Given the description of an element on the screen output the (x, y) to click on. 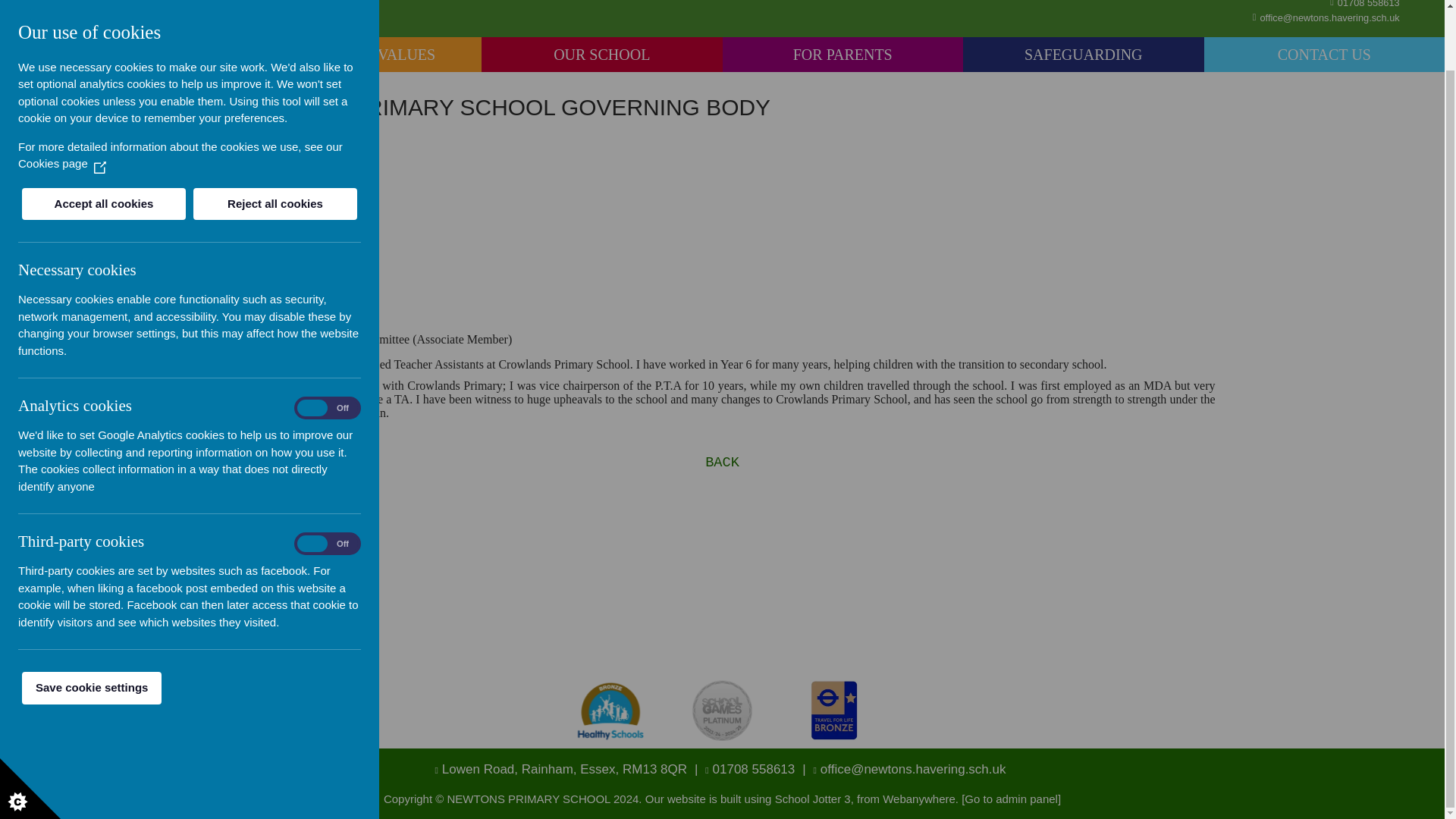
NEWTONS HOME (120, 54)
BACK (721, 462)
on (327, 477)
on (327, 341)
VISION AND VALUES (361, 54)
Cookie Control Icon (30, 722)
